Given the description of an element on the screen output the (x, y) to click on. 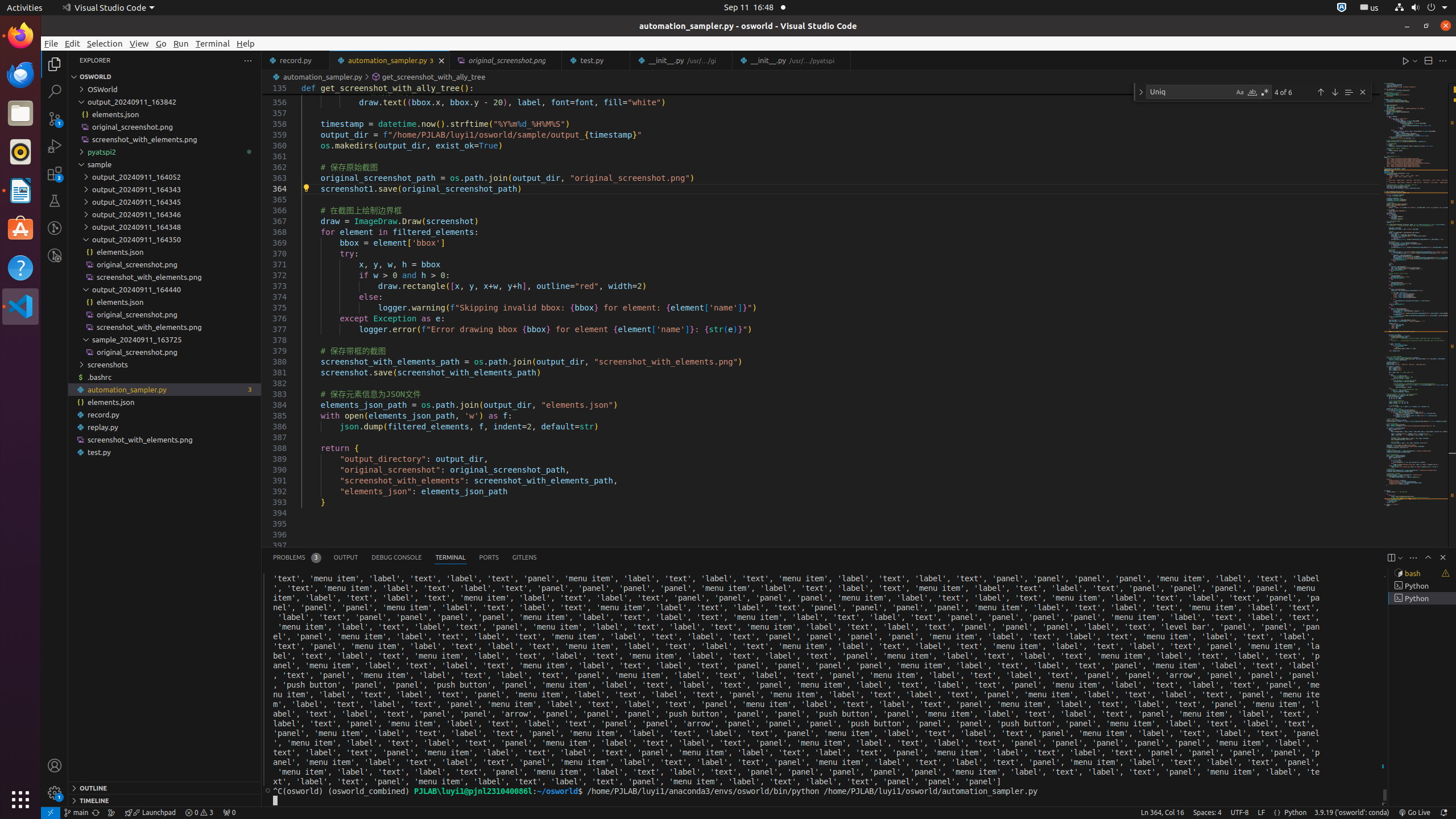
OSWorld (Git) - main, Checkout Branch/Tag... Element type: push-button (75, 812)
broadcast Go Live, Click to run live server Element type: push-button (1414, 812)
Use Regular Expression (Alt+R) Element type: check-box (1264, 91)
Accounts Element type: push-button (54, 765)
